Given the description of an element on the screen output the (x, y) to click on. 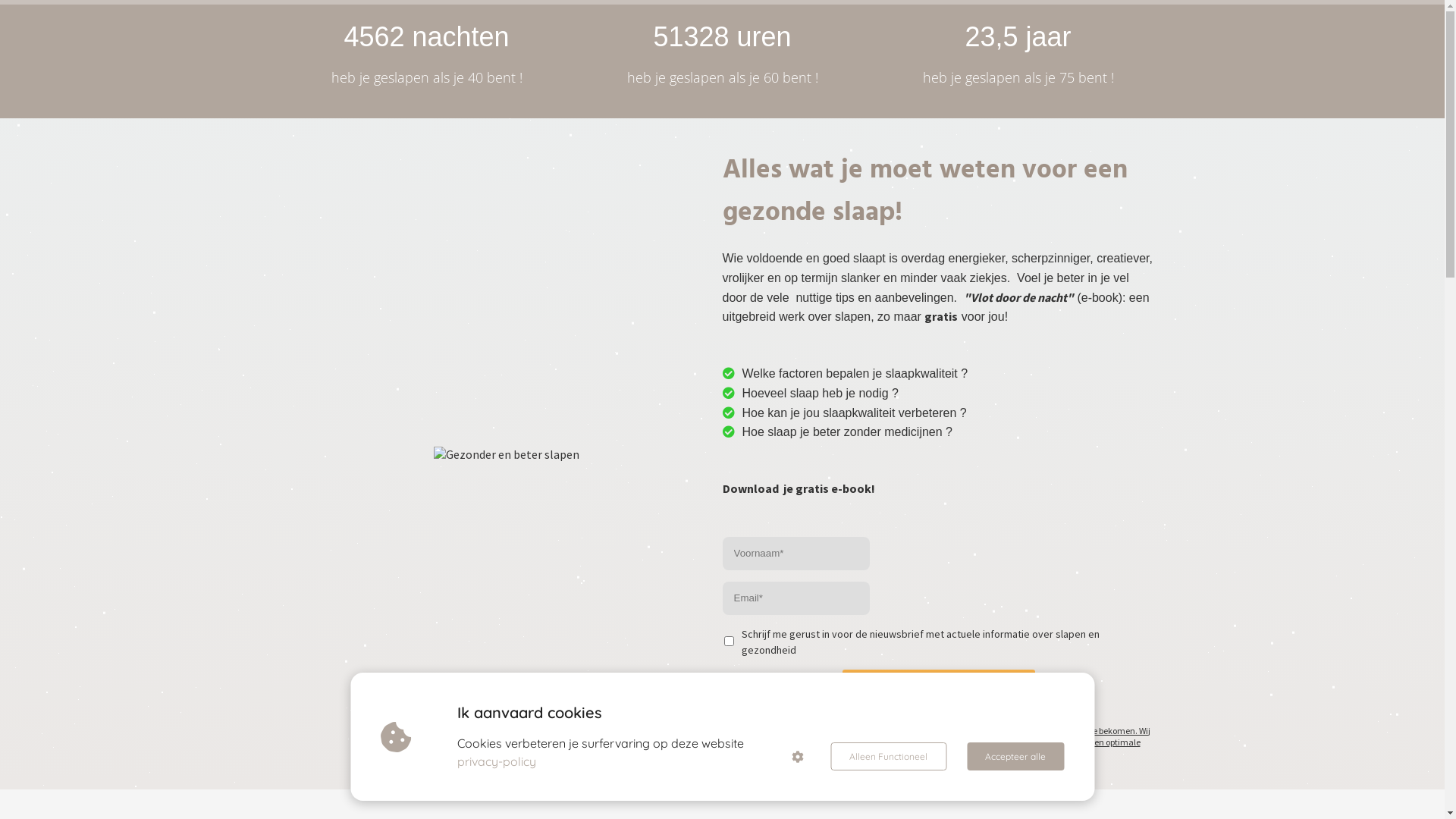
privacy-policy Element type: text (496, 761)
Ik wil dat gratis e-book Element type: text (937, 689)
Vlot door de nacht Element type: hover (506, 453)
